Given the description of an element on the screen output the (x, y) to click on. 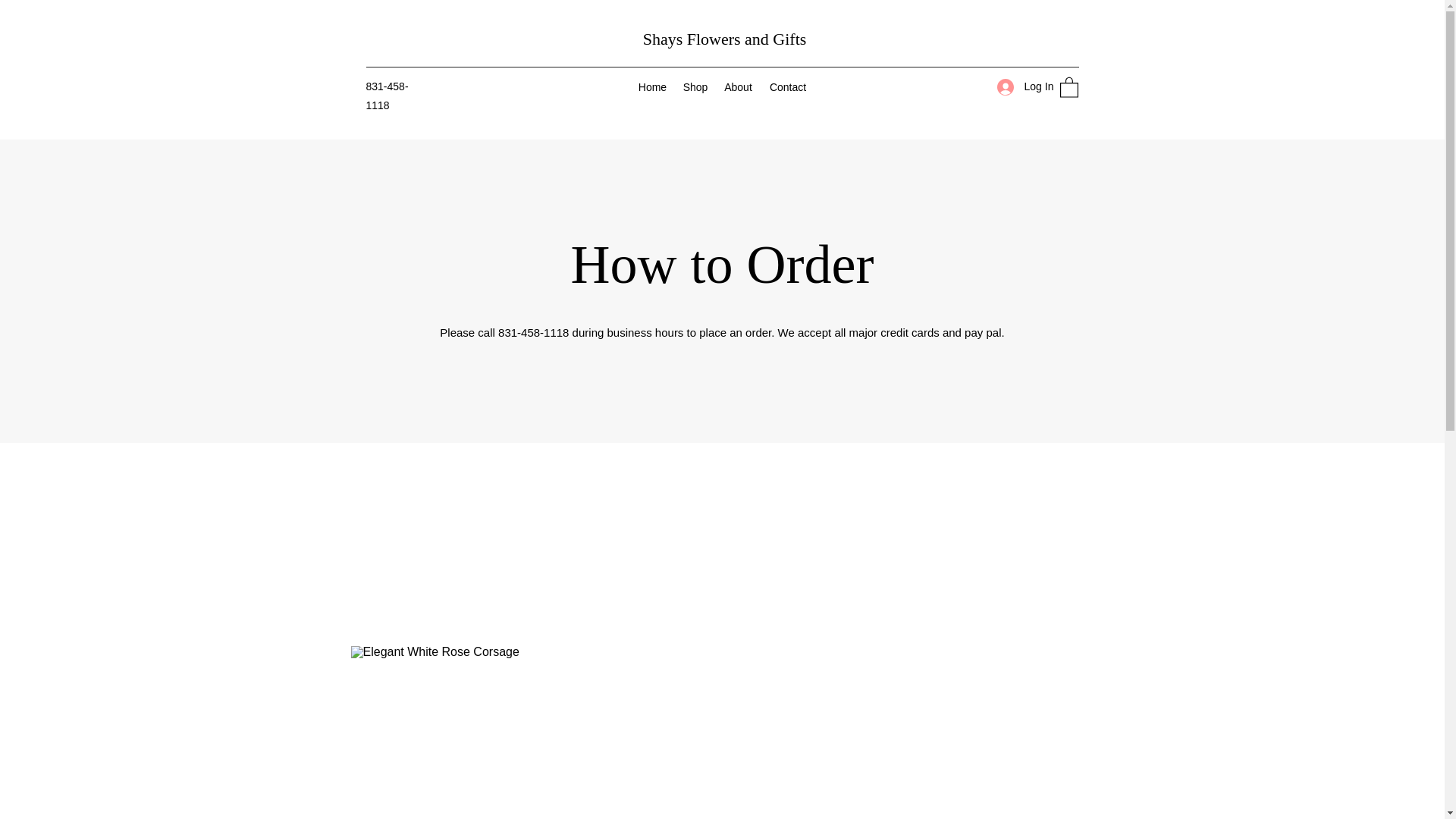
Home (652, 87)
Contact (787, 87)
Log In (1019, 86)
Shays Flowers and Gifts (724, 38)
About (738, 87)
Shop (695, 87)
